Given the description of an element on the screen output the (x, y) to click on. 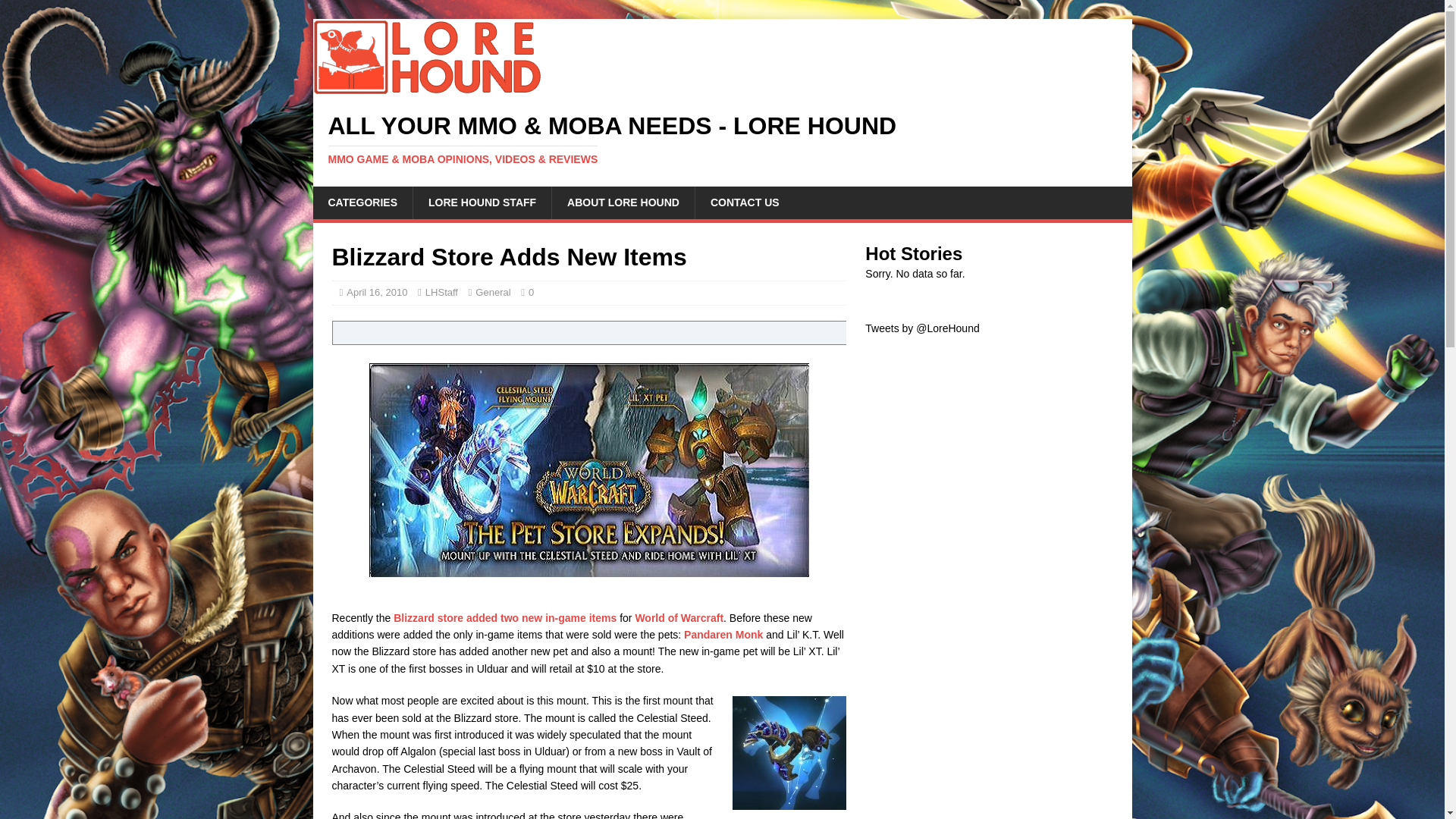
CATEGORIES (362, 202)
CONTACT US (744, 202)
General (493, 292)
ABOUT LORE HOUND (622, 202)
LORE HOUND STAFF (481, 202)
WoW-BlizzStore (589, 470)
World of Warcraft (678, 617)
Pandaren Monk (723, 634)
April 16, 2010 (376, 292)
WoW-CelestialSteed (788, 752)
LHStaff (441, 292)
Blizzard store added two new in-game items (504, 617)
